Given the description of an element on the screen output the (x, y) to click on. 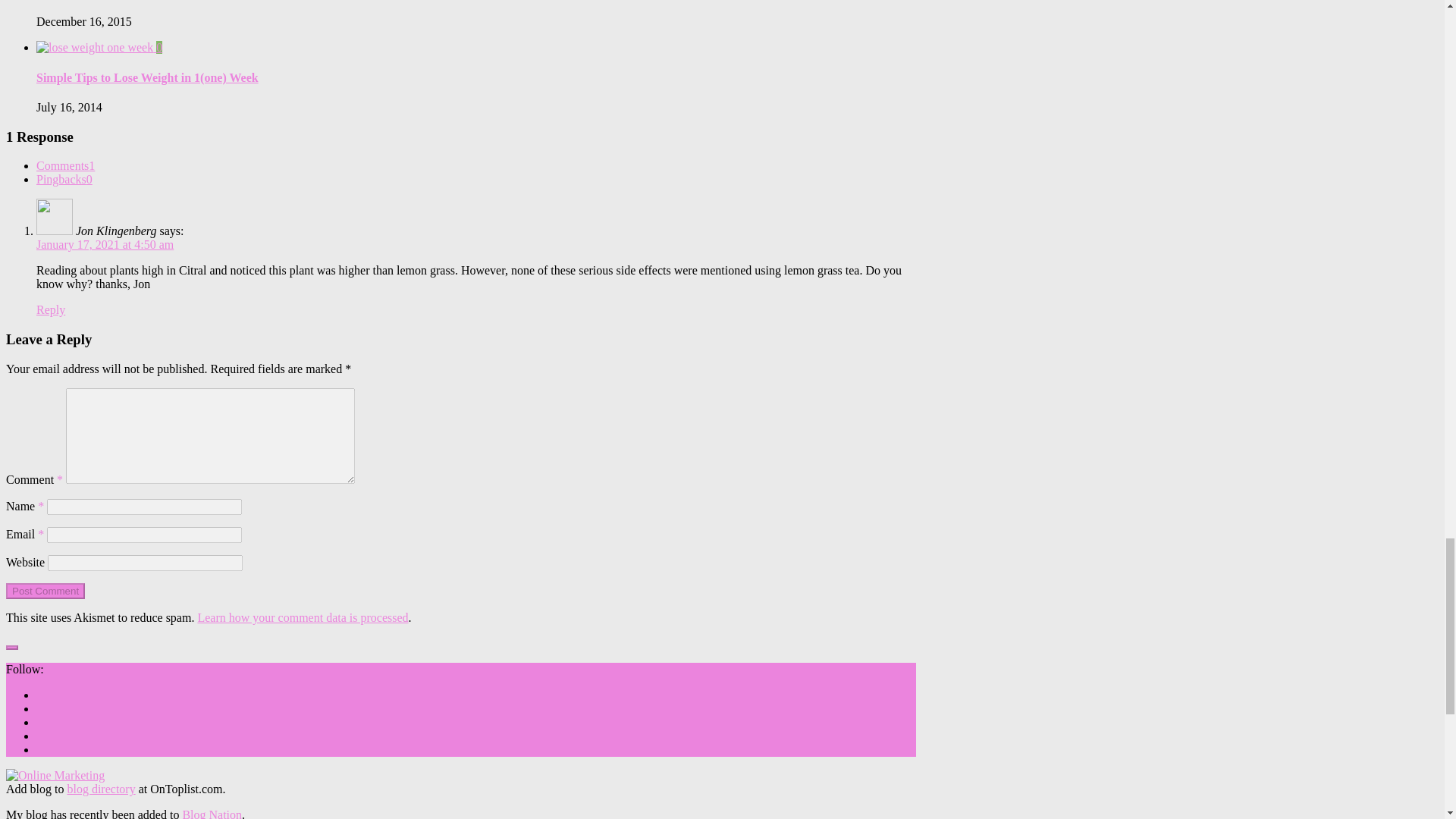
Expand Sidebar (11, 647)
Online Marketing (54, 775)
Post Comment (44, 590)
